Given the description of an element on the screen output the (x, y) to click on. 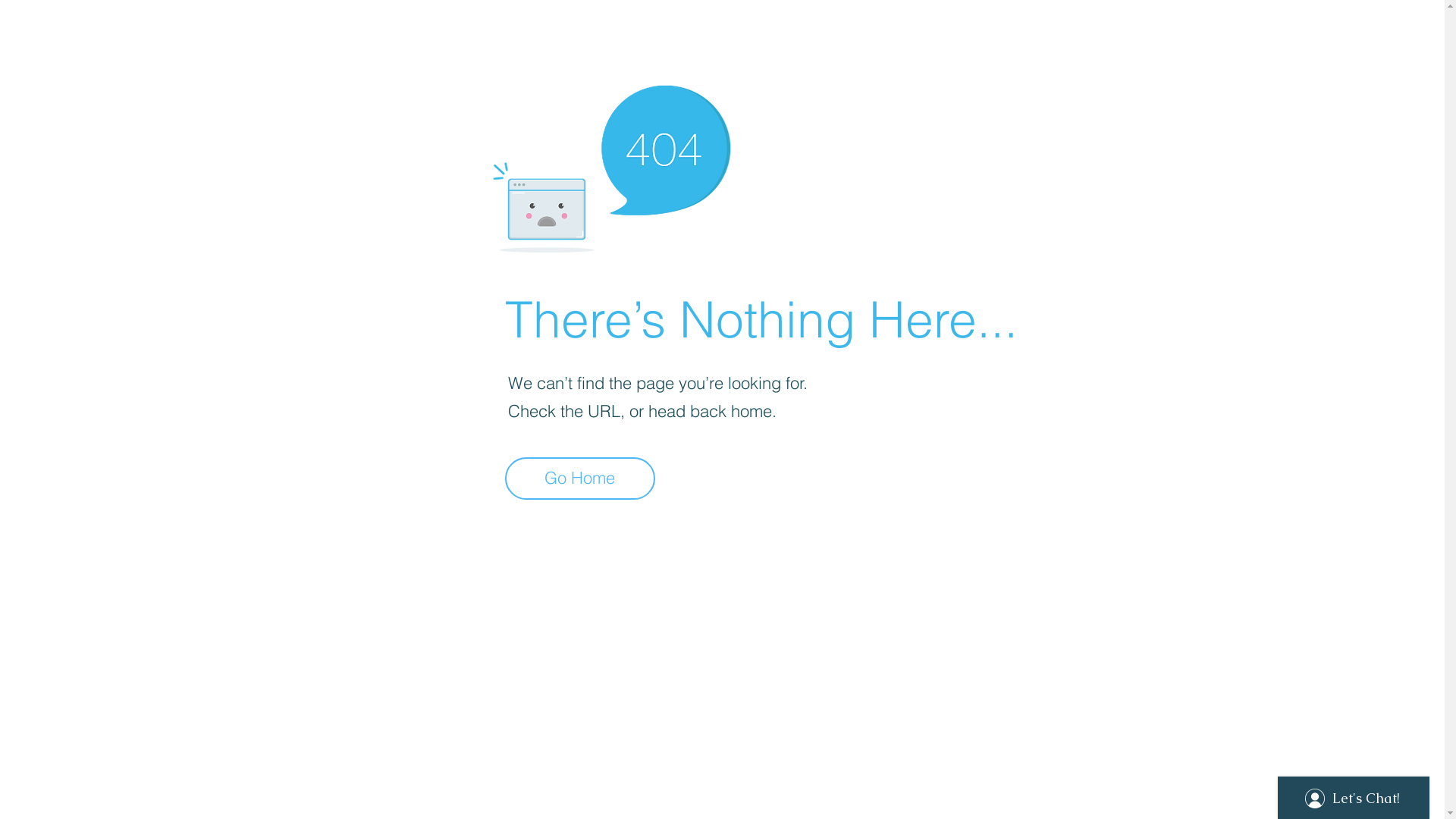
404-icon_2.png Element type: hover (610, 164)
Go Home Element type: text (580, 478)
